Given the description of an element on the screen output the (x, y) to click on. 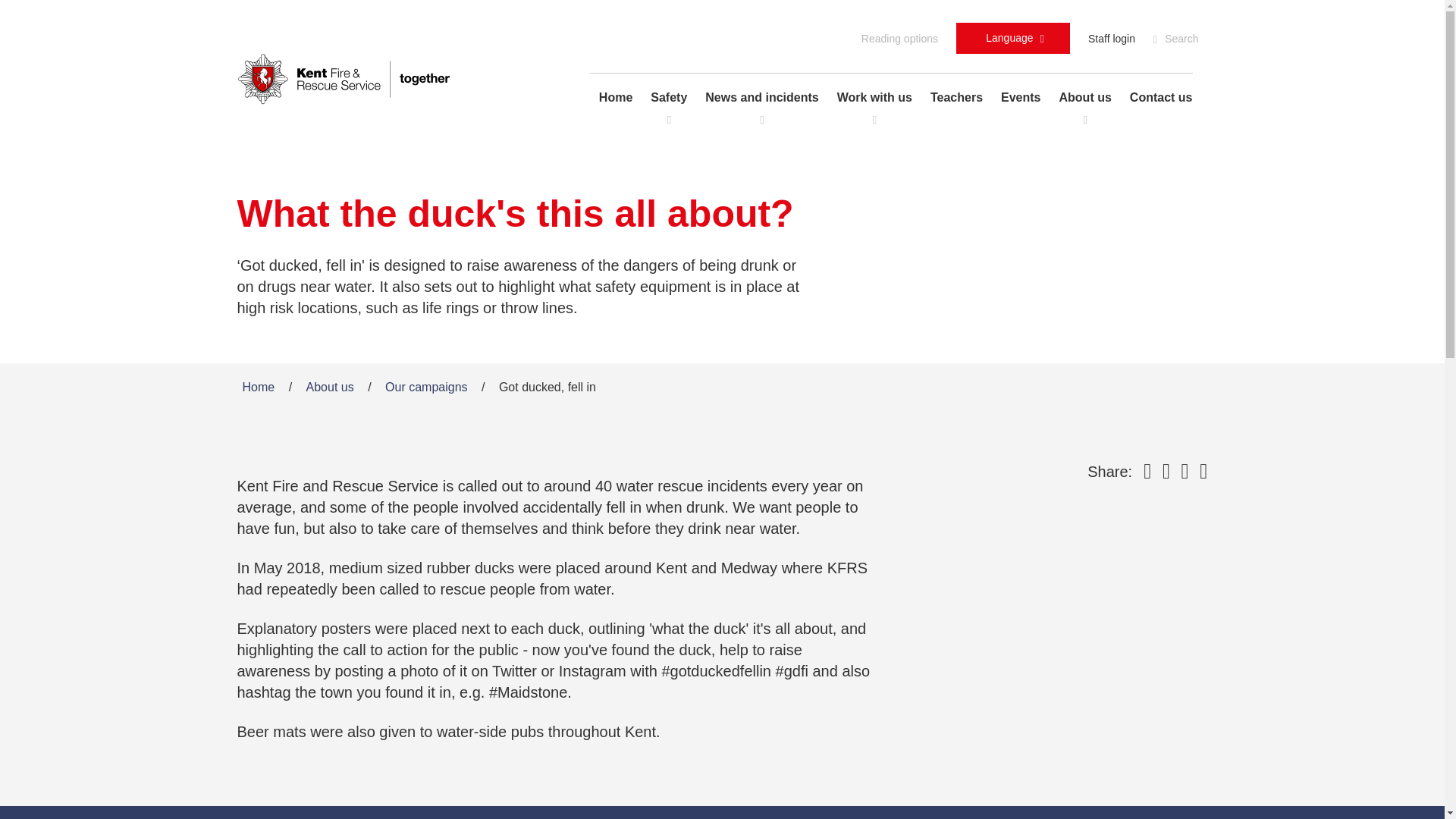
Reading options (1013, 38)
